Given the description of an element on the screen output the (x, y) to click on. 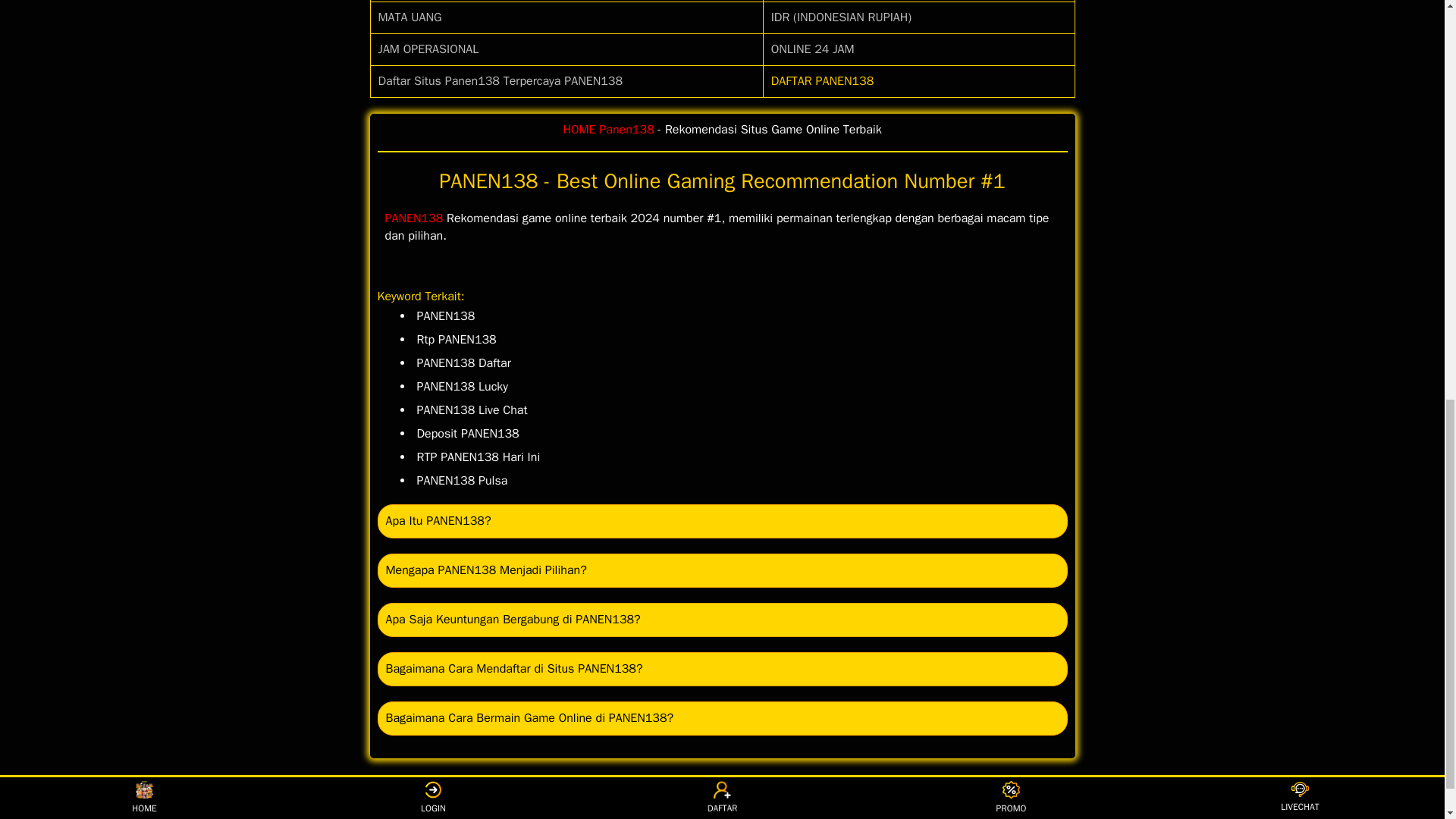
DAFTAR PANEN138 (823, 80)
DAFTAR PANEN138 (823, 80)
Panen138 (625, 129)
PANEN138 (414, 218)
HOME (578, 129)
